Given the description of an element on the screen output the (x, y) to click on. 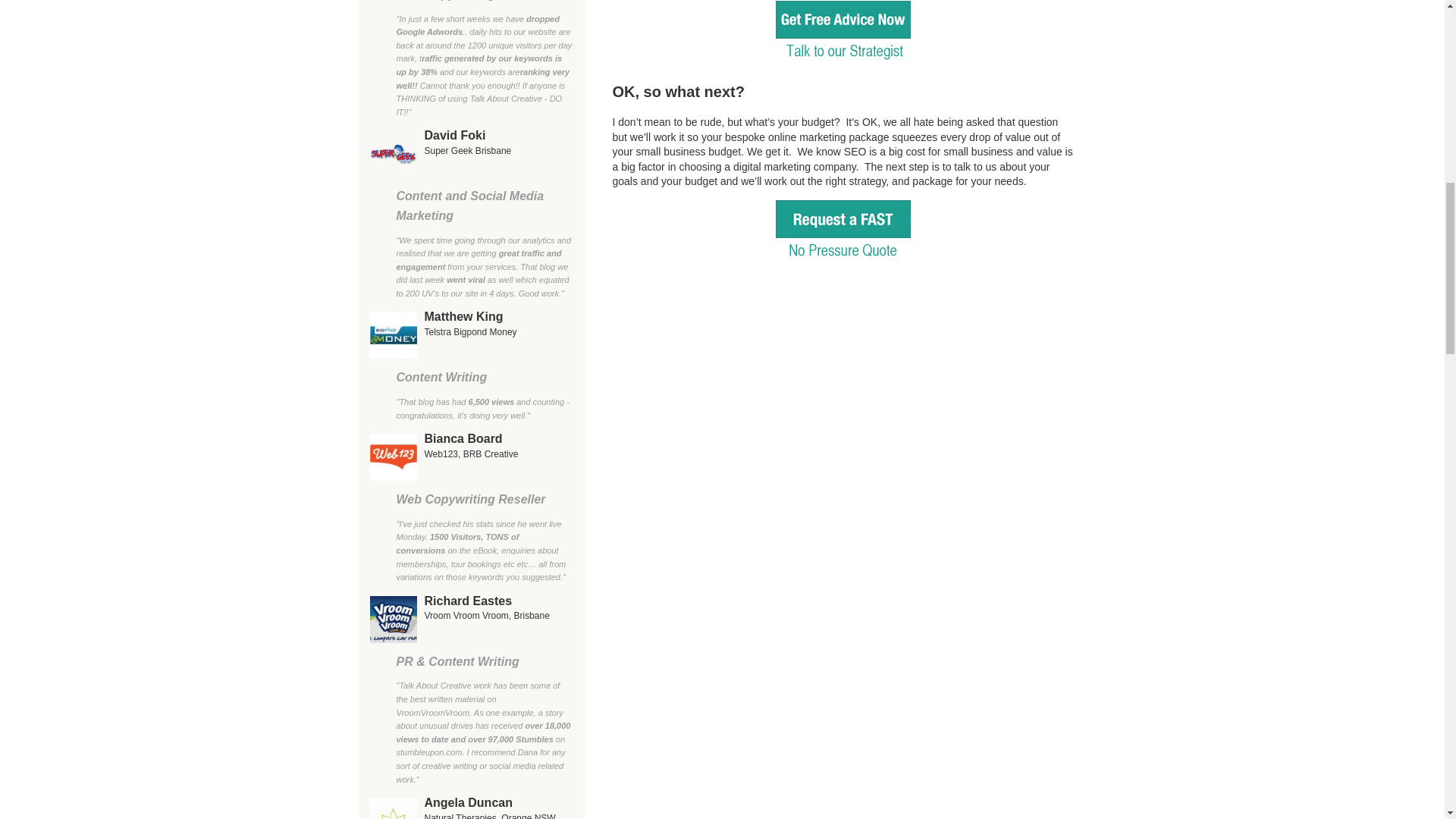
Talk To Us (843, 34)
Talk To Us (843, 233)
